Given the description of an element on the screen output the (x, y) to click on. 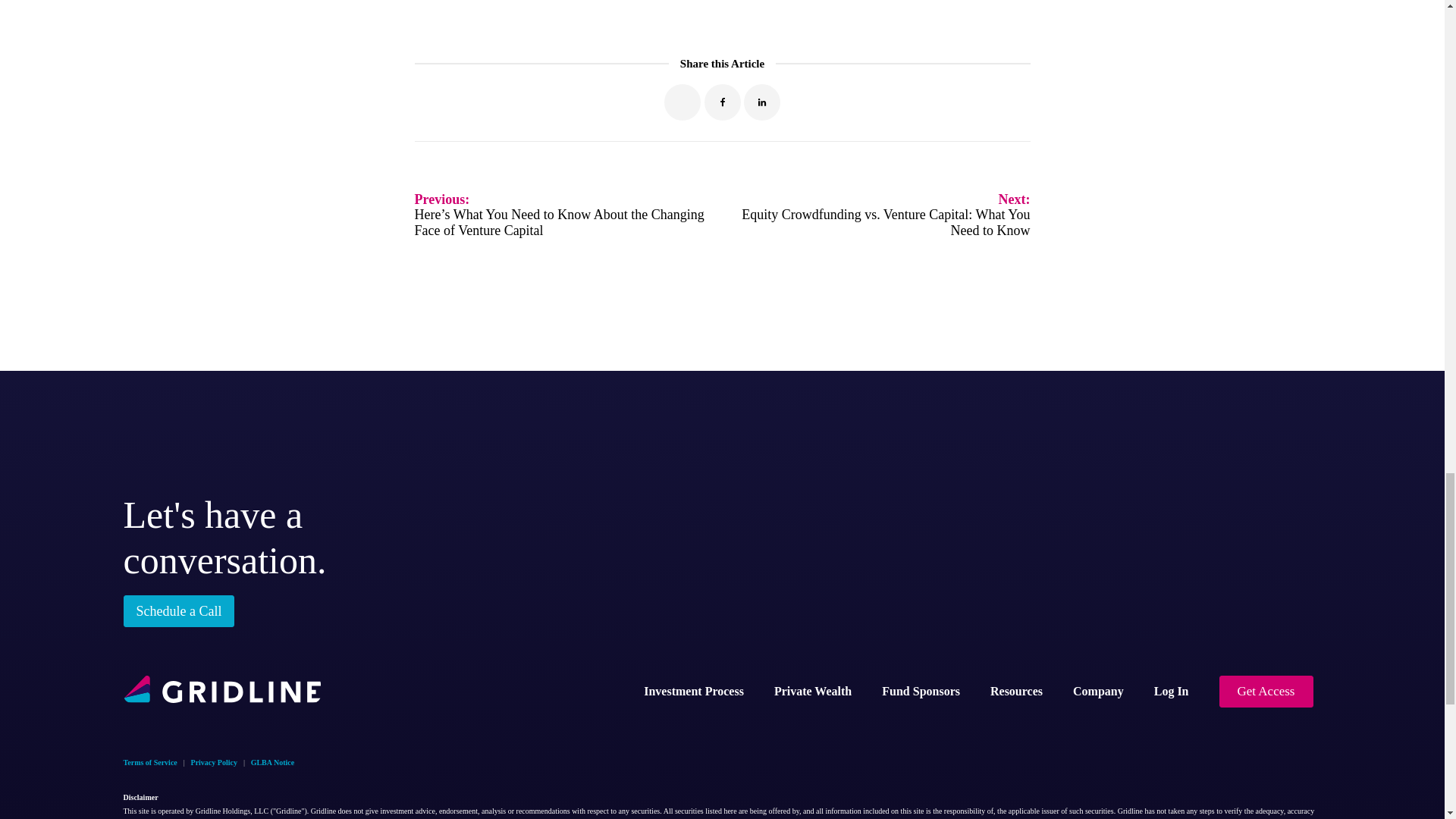
Private Wealth (812, 691)
Investment Process (693, 691)
Fund Sponsors (920, 691)
Schedule a Call (178, 611)
